Given the description of an element on the screen output the (x, y) to click on. 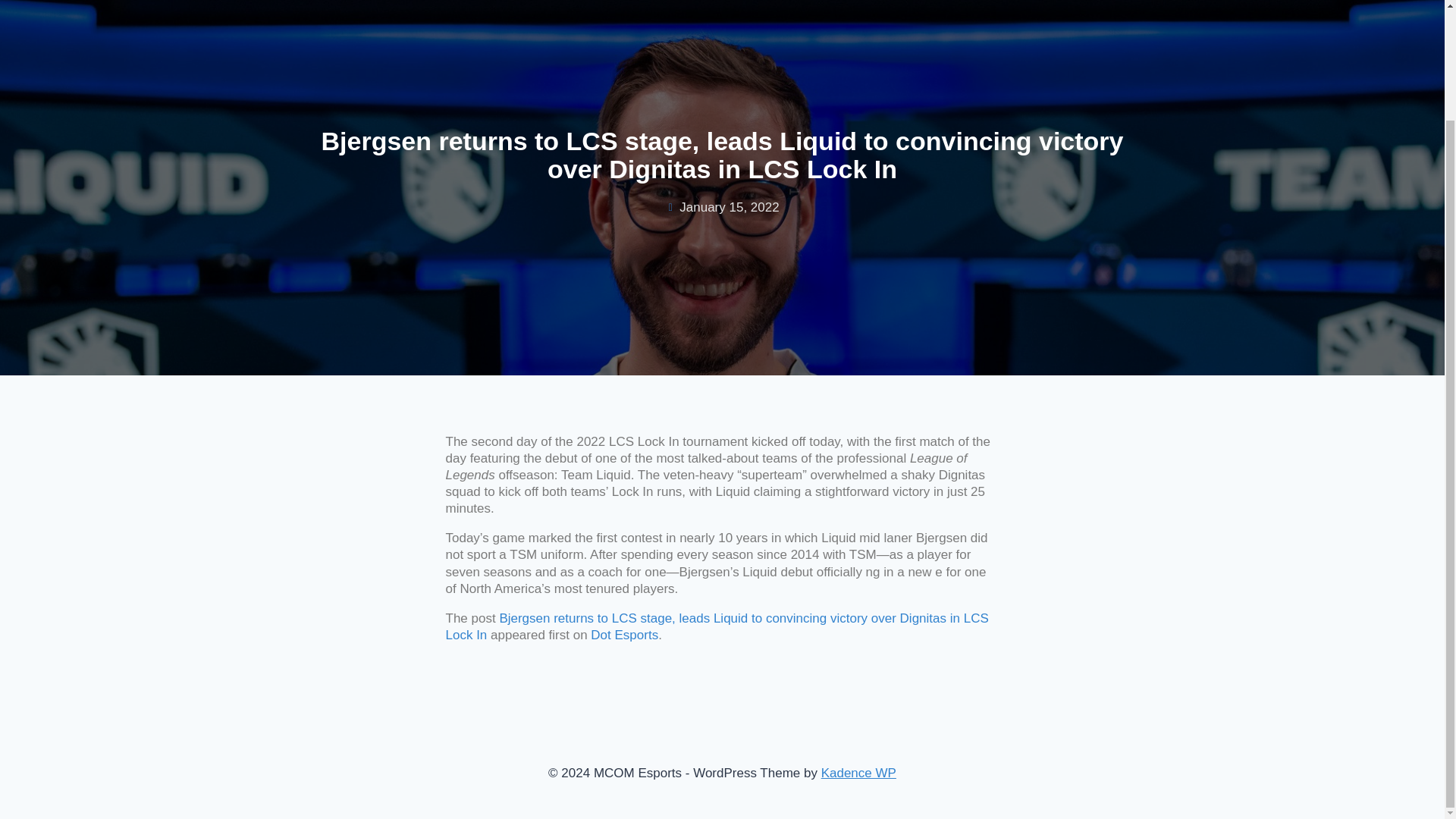
January 15, 2022 (721, 207)
Kadence WP (858, 772)
Dot Esports (624, 635)
